Given the description of an element on the screen output the (x, y) to click on. 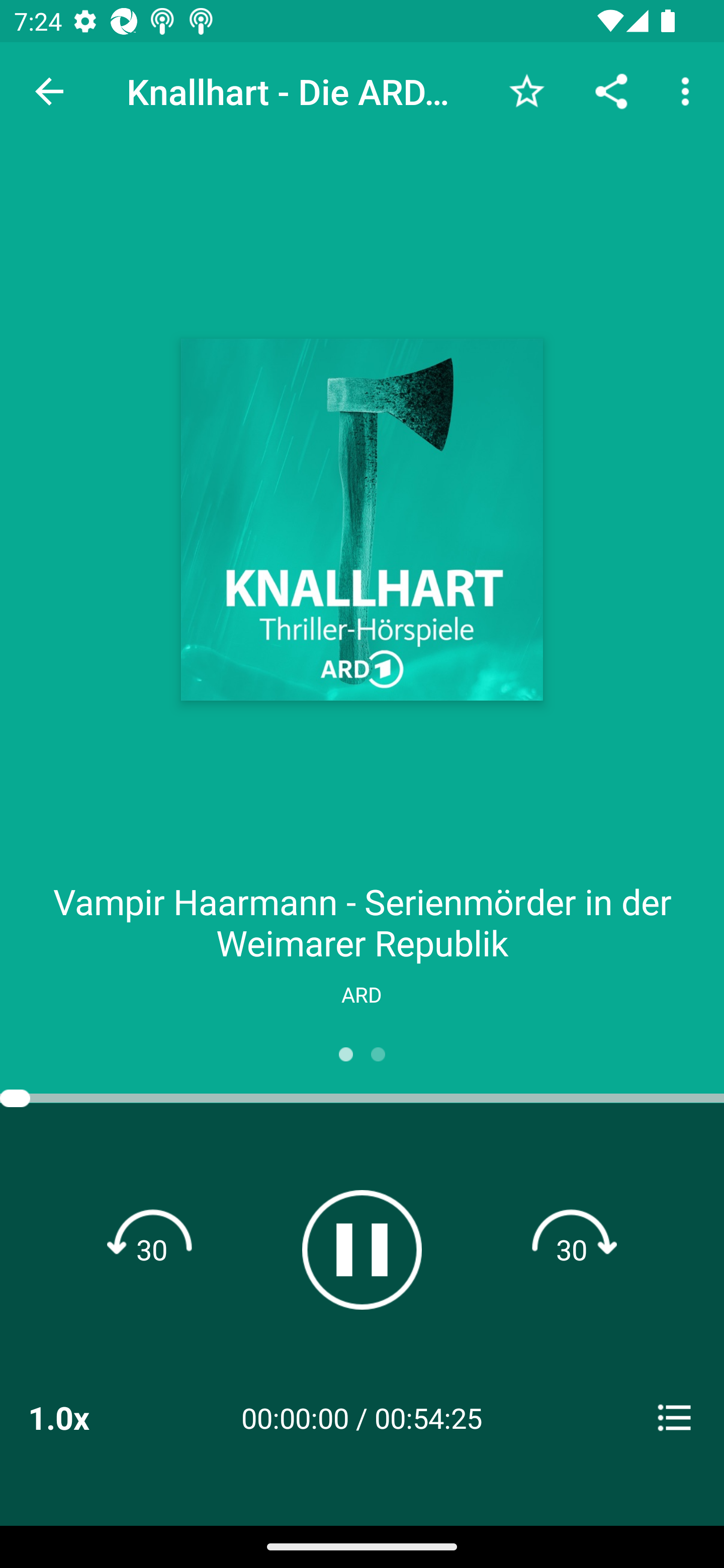
Navigate up (49, 91)
Add to Favorites (526, 90)
Share... (611, 90)
More options (688, 90)
ARD (361, 994)
Pause (361, 1249)
Rewind (151, 1249)
Fast forward (571, 1249)
1.0x Playback Speeds (84, 1417)
00:54:25 (428, 1417)
